Given the description of an element on the screen output the (x, y) to click on. 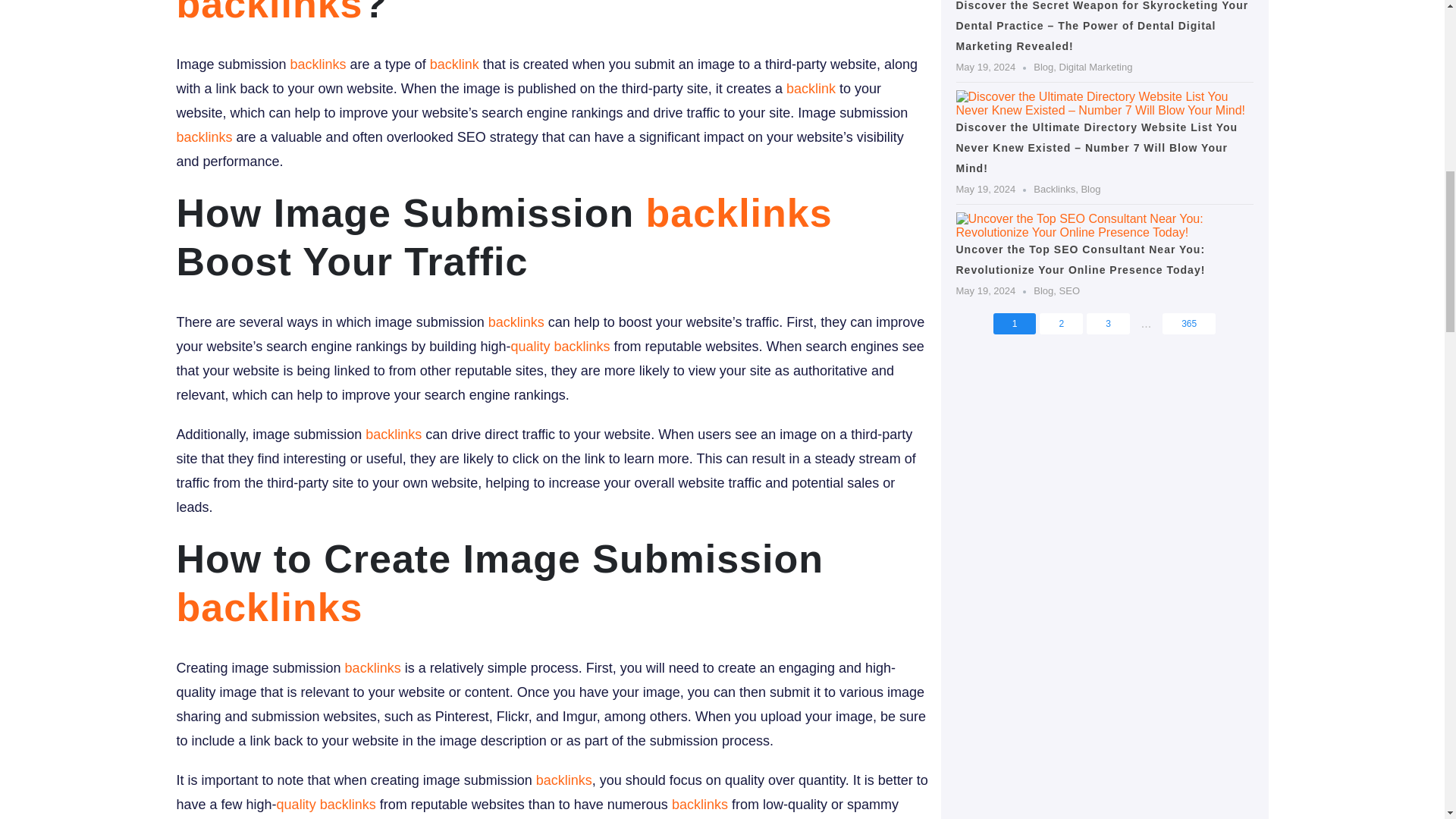
backlinks (317, 64)
backlinks (203, 136)
backlink (454, 64)
backlink (810, 88)
backlinks (269, 12)
backlinks (393, 434)
backlinks (739, 212)
backlinks (269, 607)
quality backlinks (560, 346)
backlinks (373, 667)
backlinks (515, 322)
